Given the description of an element on the screen output the (x, y) to click on. 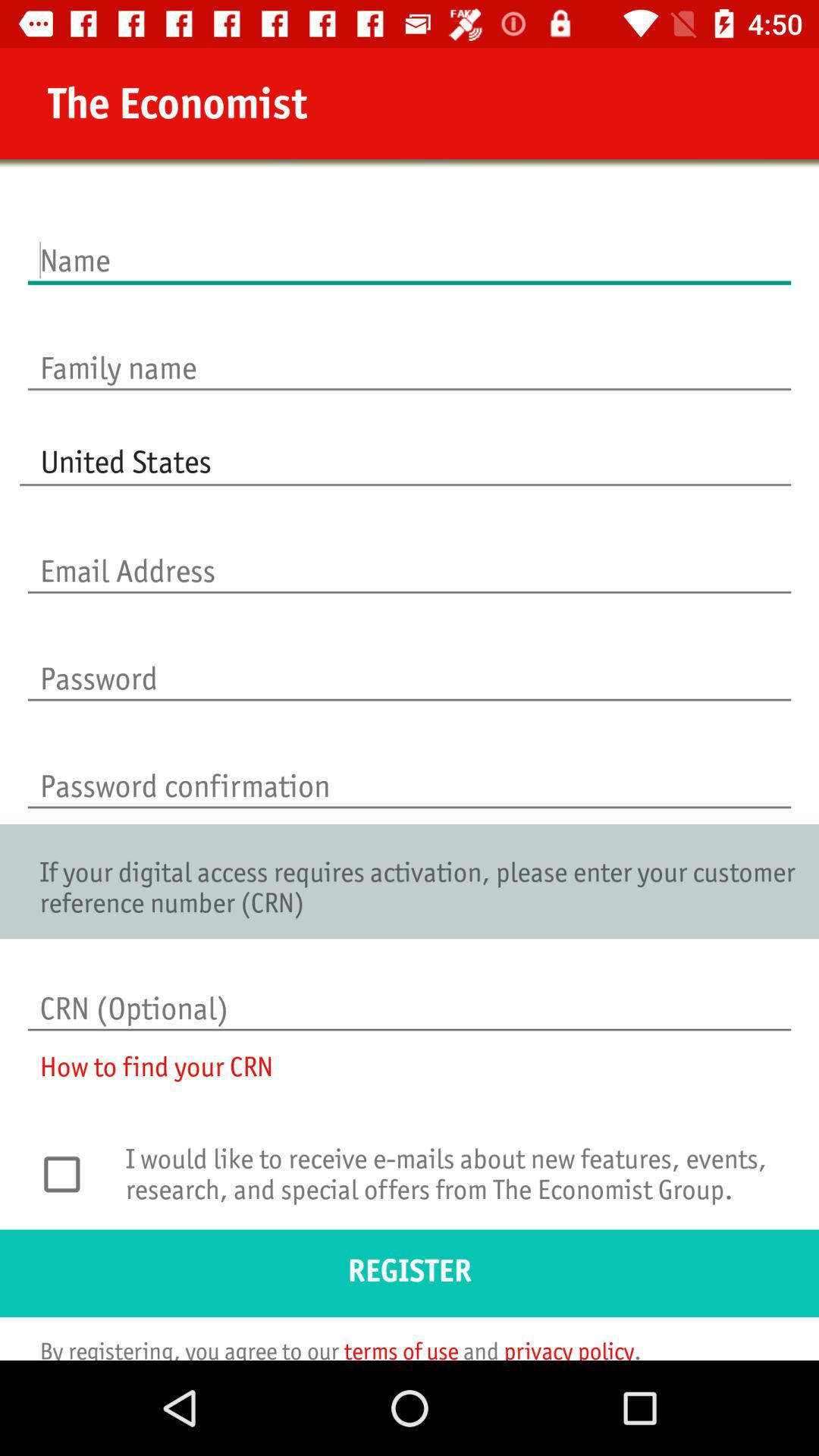
press the icon below register icon (330, 1348)
